Given the description of an element on the screen output the (x, y) to click on. 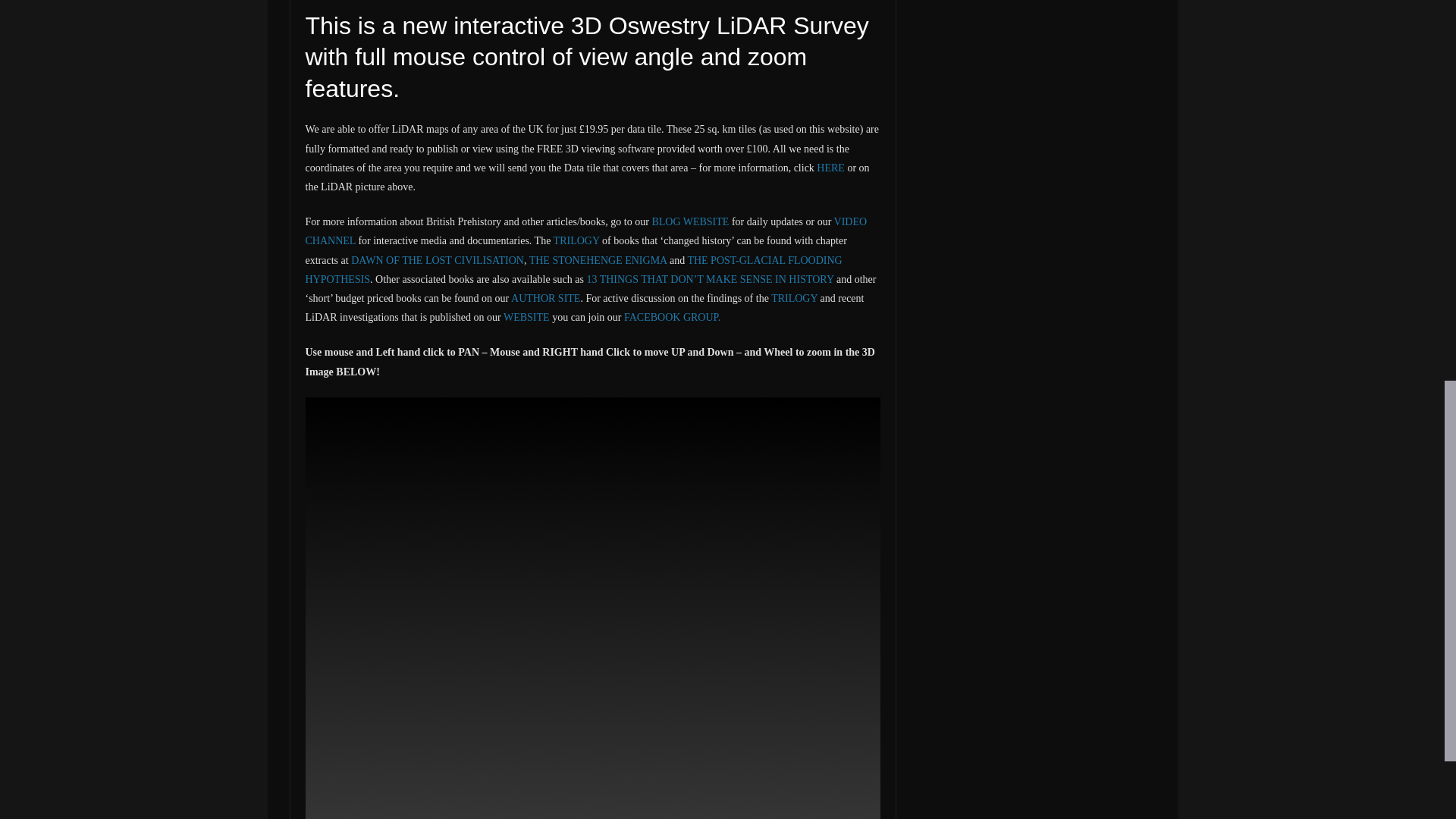
VIDEO CHANNEL (585, 231)
THE STONEHENGE ENIGMA  (599, 260)
WEBSITE  (527, 317)
FACEBOOK GROUP. (672, 317)
TRILOGY (793, 297)
July 31, 2023 (432, 0)
HERE (830, 167)
TRILOGY  (577, 240)
DAWN OF THE LOST CIVILISATION (437, 260)
BLOG WEBSITE (689, 221)
AUTHOR SITE (545, 297)
THE POST-GLACIAL FLOODING HYPOTHESIS (572, 269)
Robert John Langdon (356, 0)
12:47 pm (432, 0)
Robert John Langdon (356, 0)
